Given the description of an element on the screen output the (x, y) to click on. 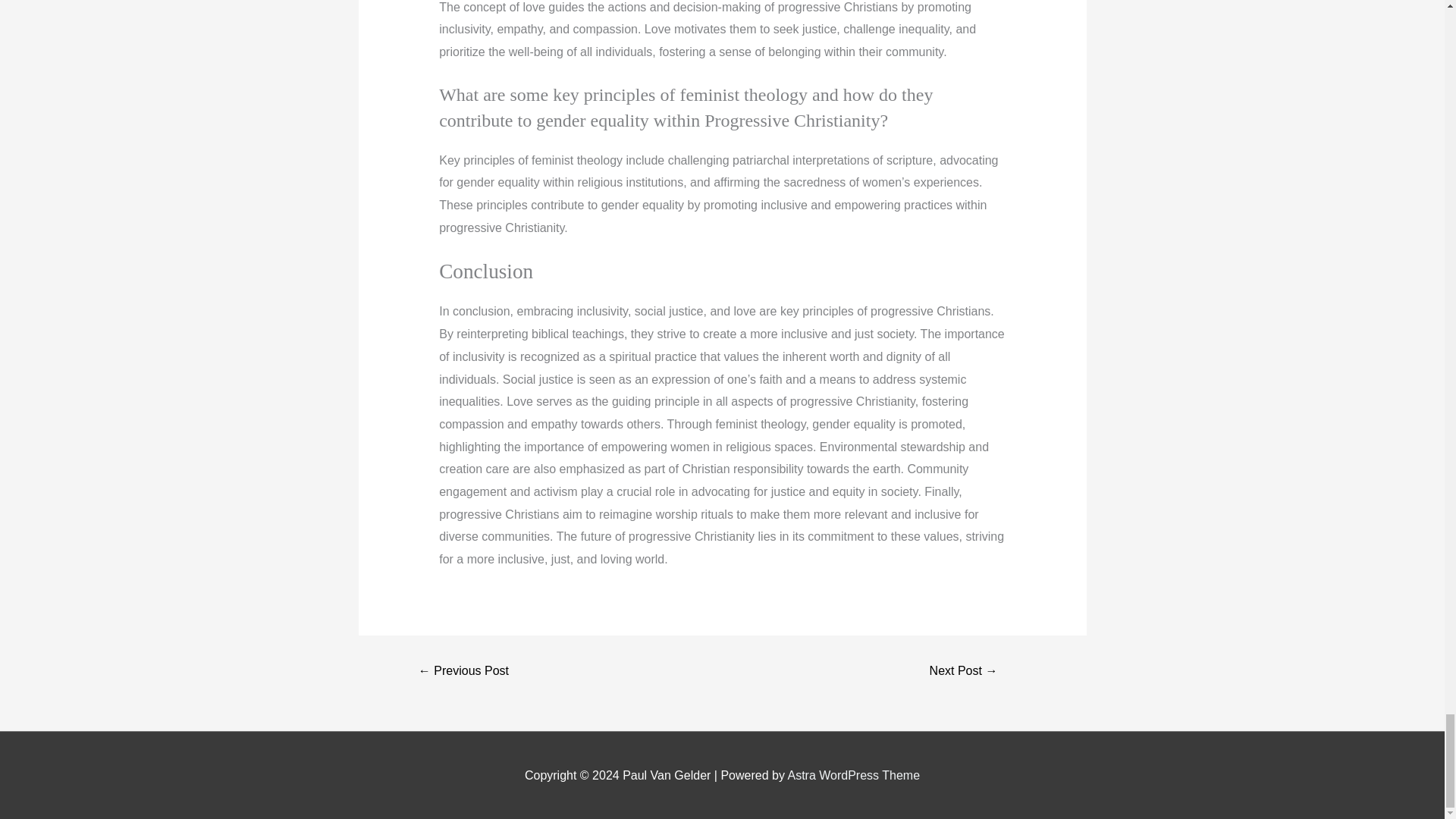
Does Mindfulness Actually Work? (962, 671)
Astra WordPress Theme (853, 775)
